Given the description of an element on the screen output the (x, y) to click on. 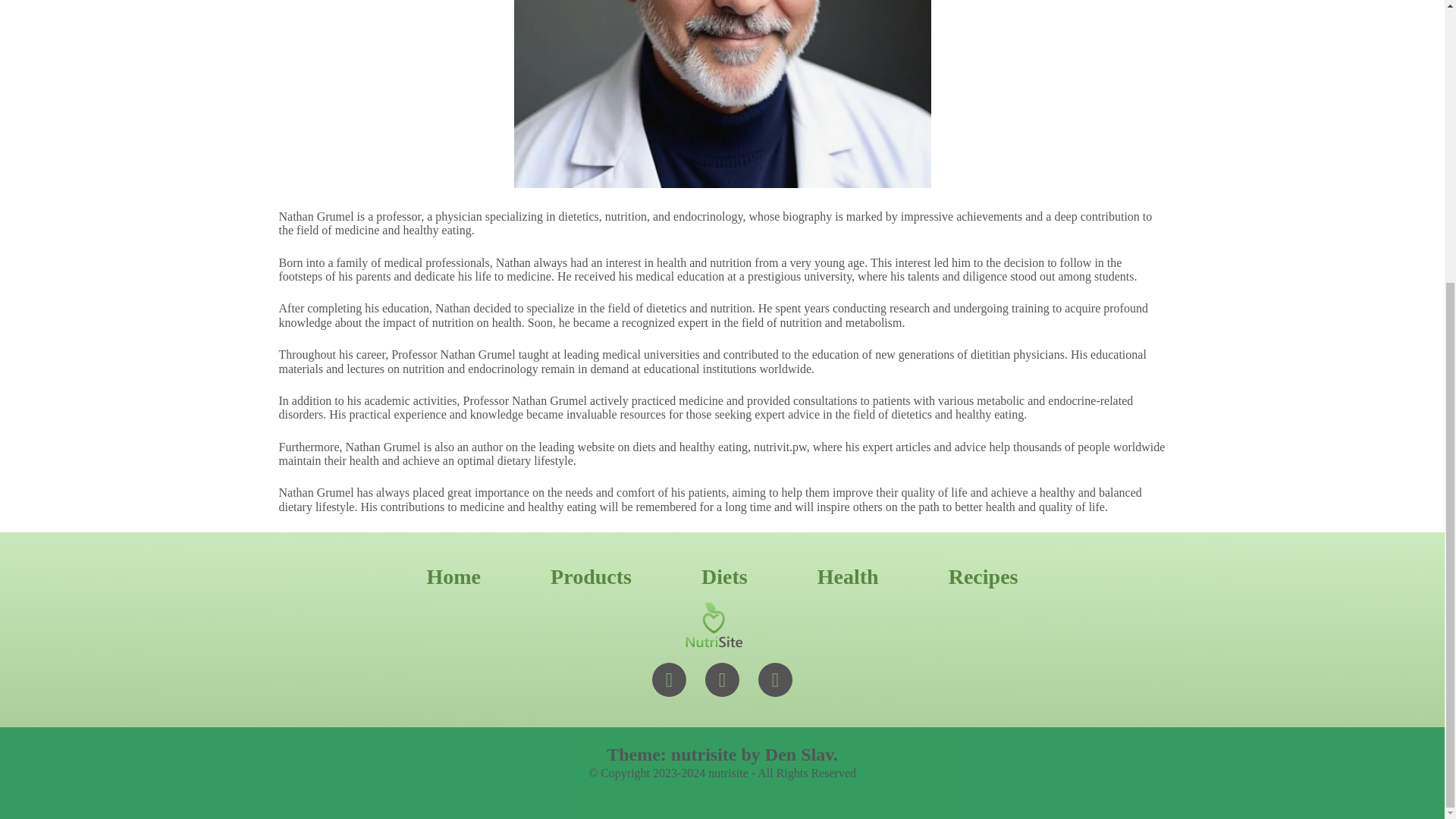
Diets (724, 576)
Home (453, 576)
Health (847, 576)
Recipes (983, 576)
Products (590, 576)
